Given the description of an element on the screen output the (x, y) to click on. 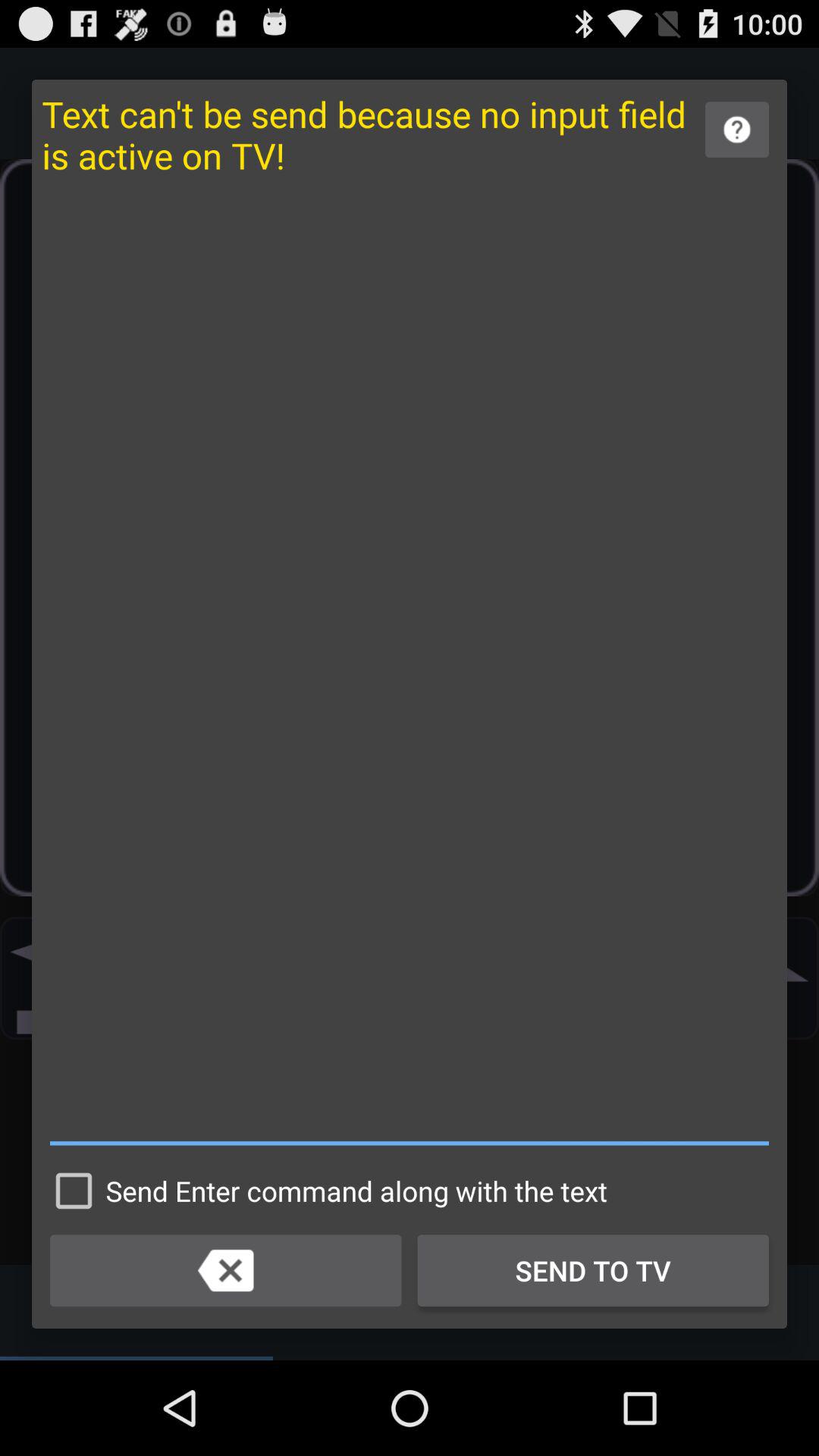
select icon to the right of the text can t (736, 129)
